Given the description of an element on the screen output the (x, y) to click on. 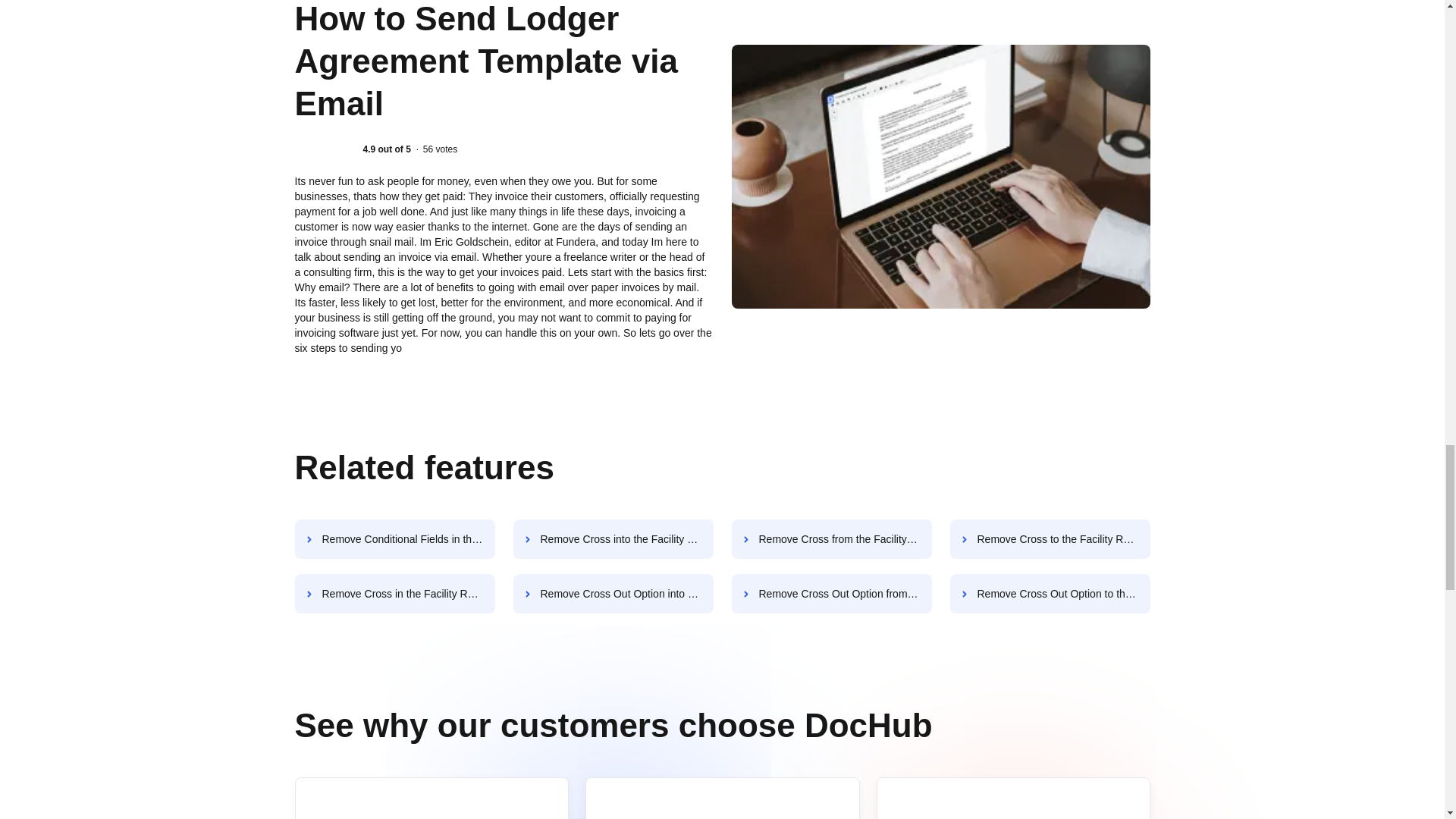
Remove Cross Out Option into the Facility Rental Agreement (612, 593)
Remove Cross in the Facility Rental Agreement (394, 593)
Remove Cross Out Option from the Facility Rental Agreement (830, 593)
Remove Cross from the Facility Rental Agreement (830, 538)
Remove Conditional Fields in the Facility Rental Agreement (394, 538)
Remove Cross to the Facility Rental Agreement (1049, 538)
Remove Cross Out Option to the Facility Rental Agreement (1049, 593)
Remove Cross into the Facility Rental Agreement (612, 538)
